Given the description of an element on the screen output the (x, y) to click on. 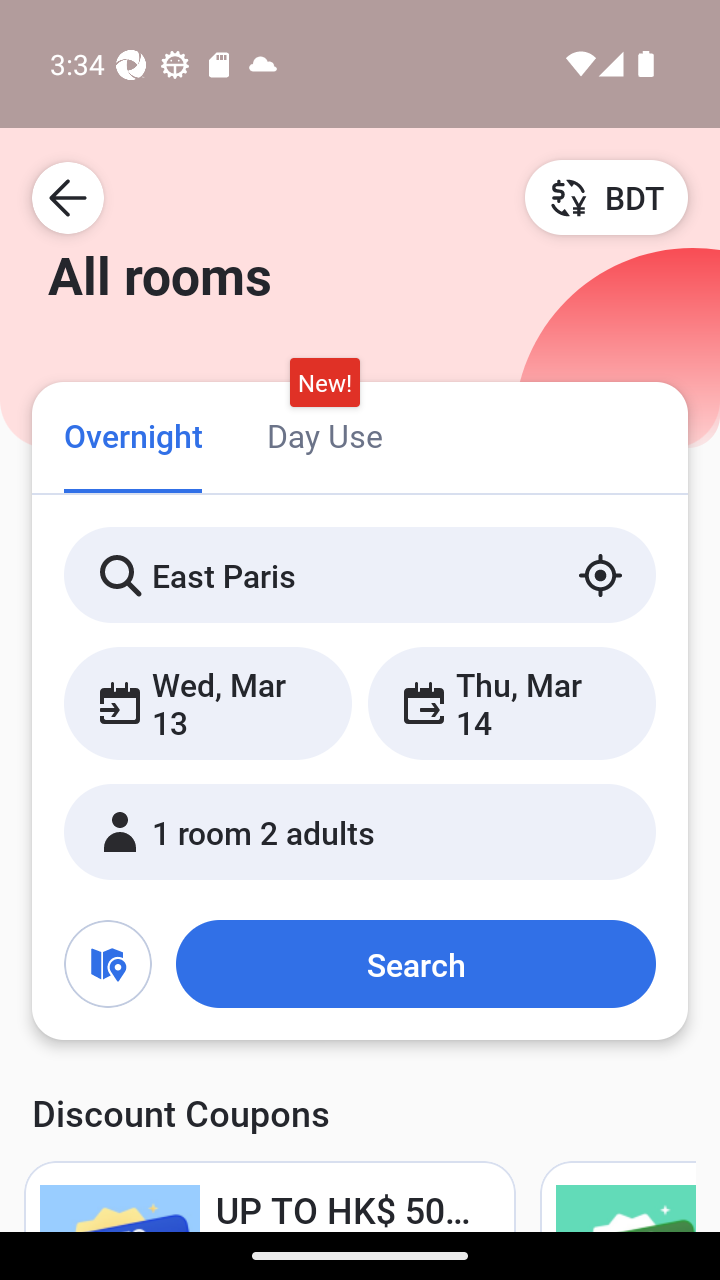
BDT (606, 197)
New! (324, 383)
Day Use (324, 434)
East Paris (359, 575)
Wed, Mar 13 (208, 703)
Thu, Mar 14 (511, 703)
1 room 2 adults (359, 831)
Search (415, 964)
